Given the description of an element on the screen output the (x, y) to click on. 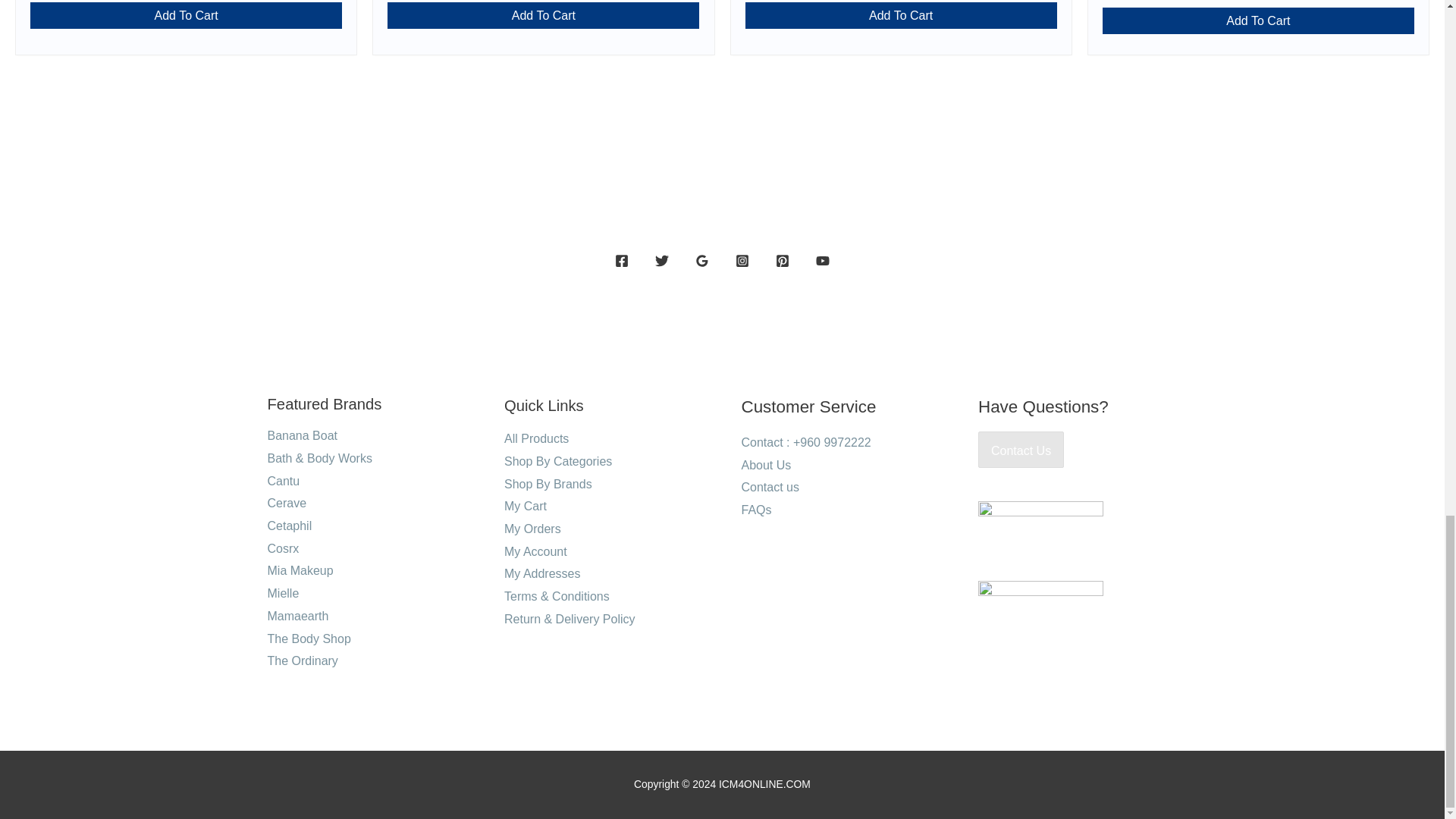
playstore (1040, 603)
appstore (1040, 524)
